Given the description of an element on the screen output the (x, y) to click on. 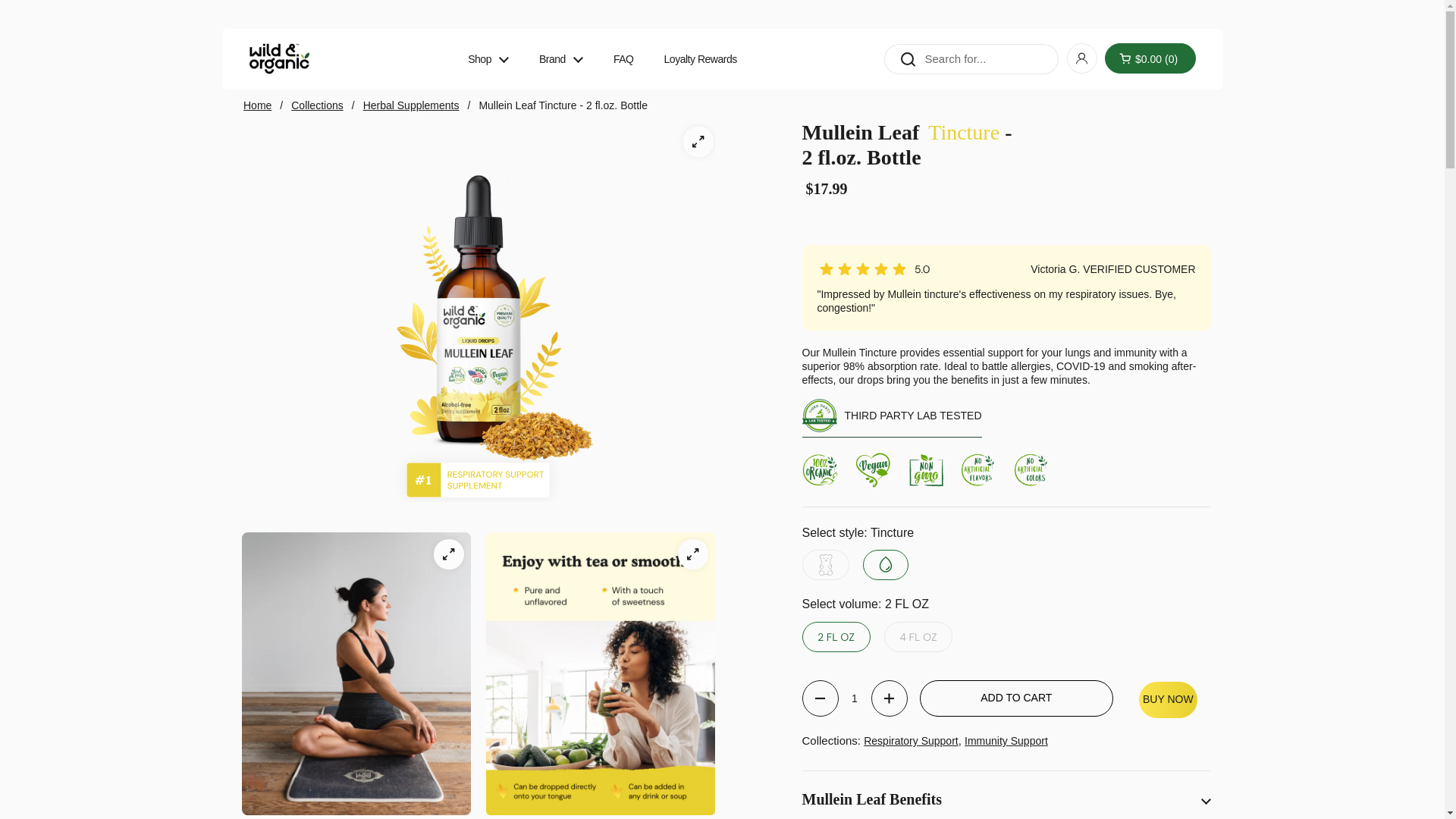
Shop (488, 58)
1 (854, 698)
Open cart (1149, 57)
